Given the description of an element on the screen output the (x, y) to click on. 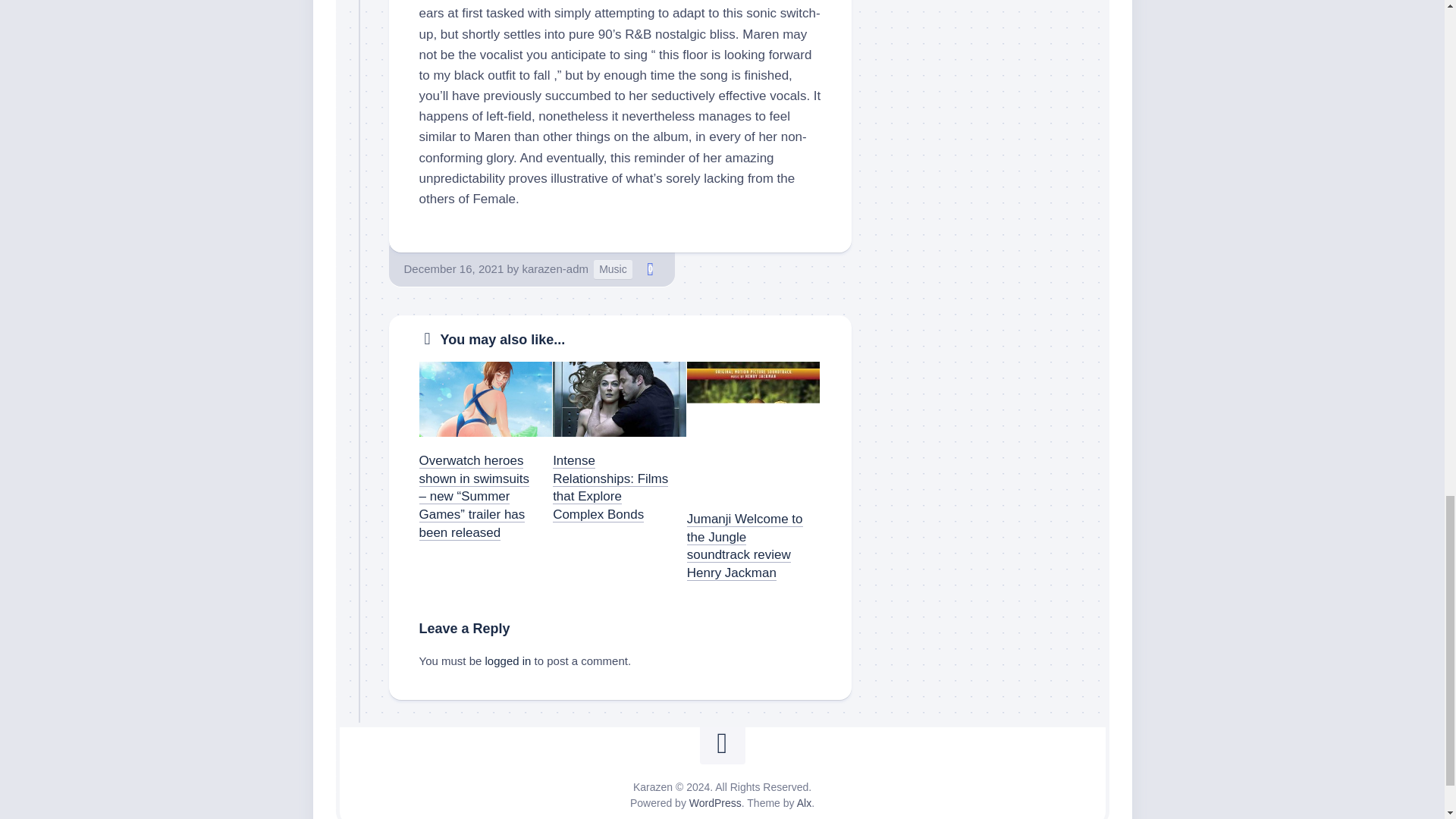
Intense Relationships: Films that Explore Complex Bonds (610, 487)
karazen-adm (554, 268)
WordPress (714, 802)
Alx (803, 802)
0 (650, 269)
Posts by karazen-adm (554, 268)
Music (612, 269)
logged in (507, 660)
